Given the description of an element on the screen output the (x, y) to click on. 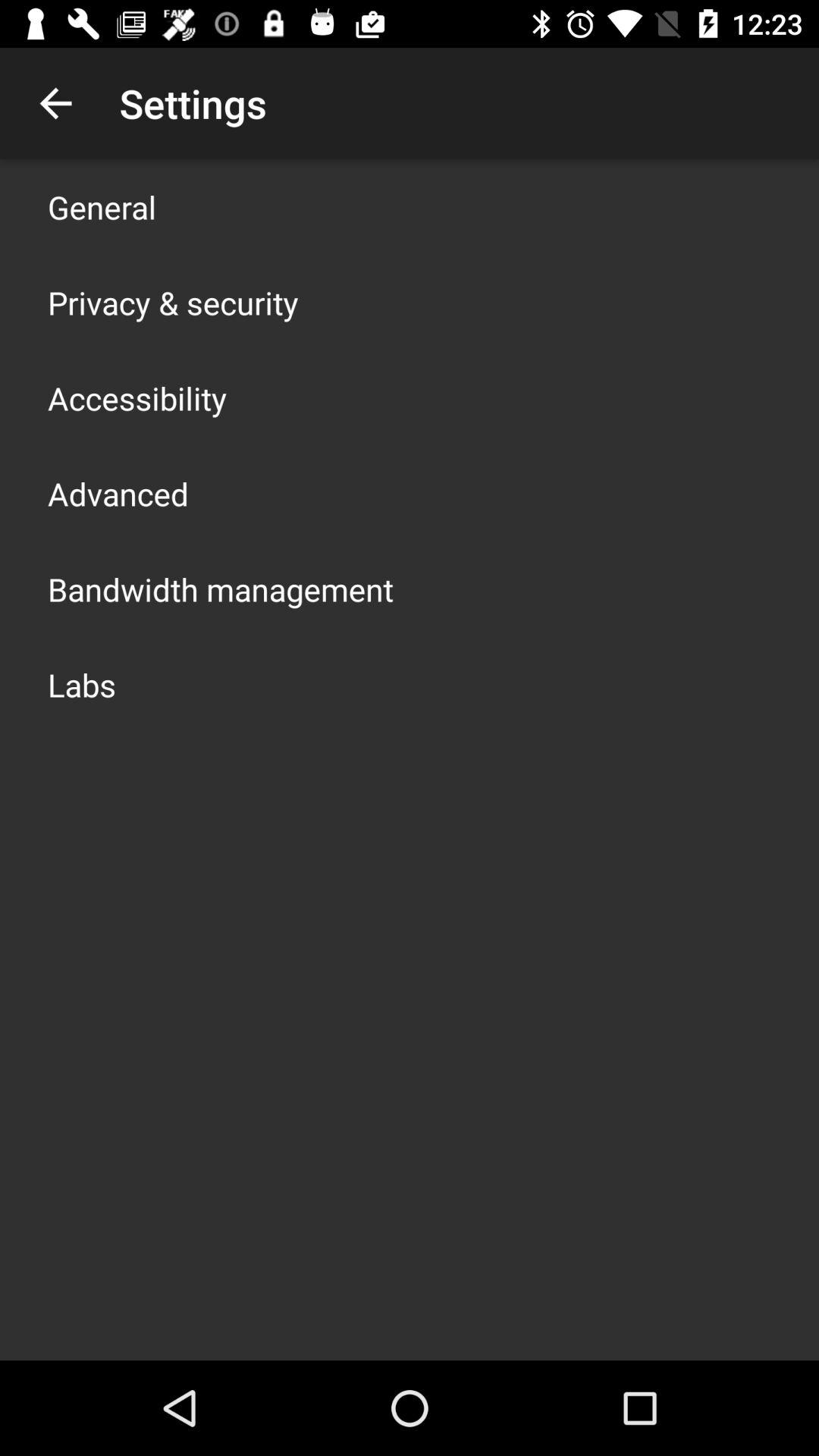
launch the item below general item (172, 302)
